Given the description of an element on the screen output the (x, y) to click on. 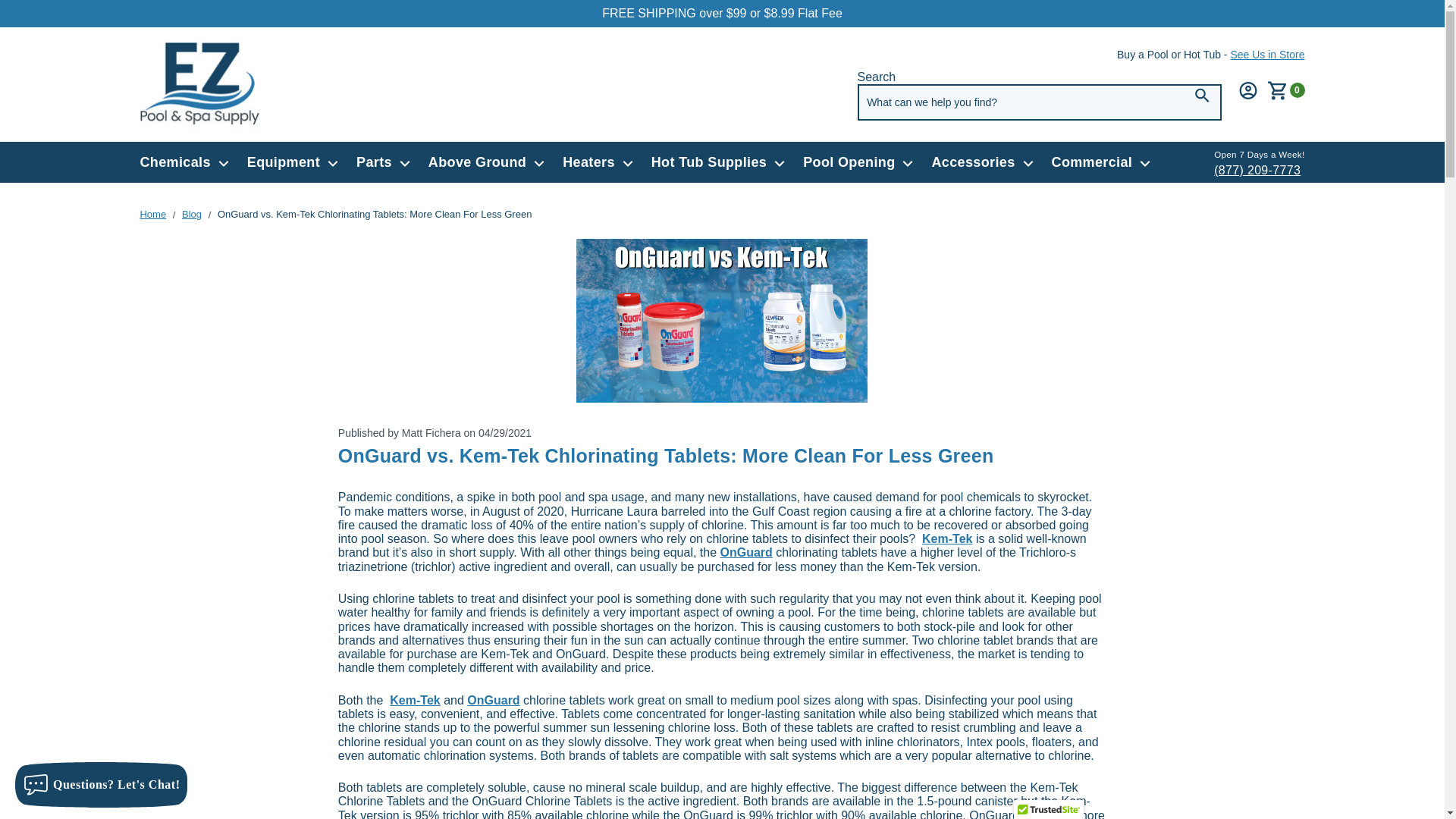
TrustedSite Certified (1048, 809)
0 (1284, 89)
Chemicals (183, 162)
Equipment (292, 162)
See Us in Store (1267, 54)
